Given the description of an element on the screen output the (x, y) to click on. 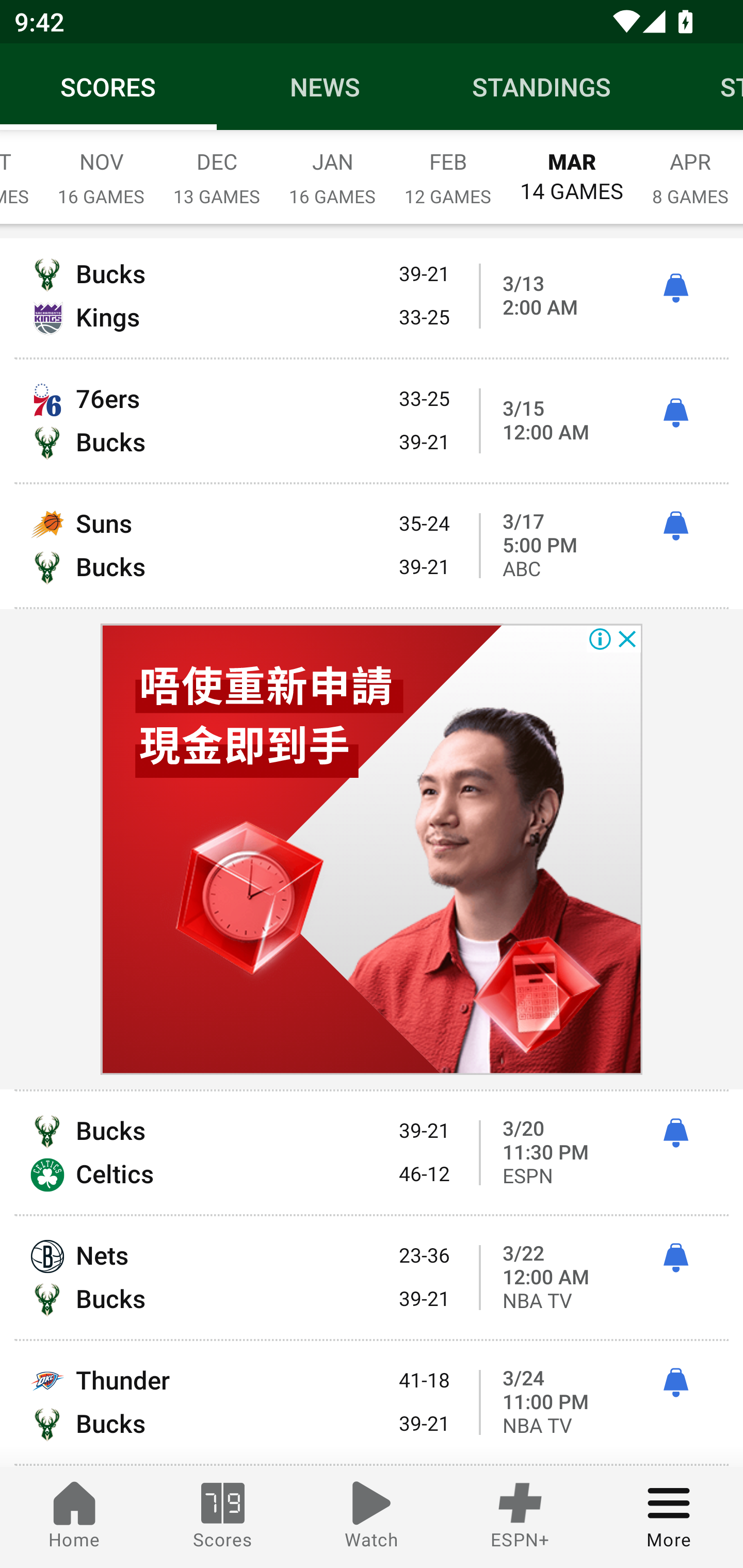
News NEWS (324, 86)
Standings STANDINGS (541, 86)
NOV 16 GAMES (101, 167)
DEC 13 GAMES (216, 167)
JAN 16 GAMES (332, 167)
FEB 12 GAMES (447, 167)
MAR 14 GAMES (571, 167)
APR 8 GAMES (690, 167)
Bucks 39-21 Kings 33-25 3/13 2:00 AM ì (371, 297)
ì (675, 288)
76ers 33-25 Bucks 39-21 3/15 12:00 AM ì (371, 420)
ì (675, 412)
Suns 35-24 Bucks 39-21 3/17 5:00 PM ì ABC (371, 545)
ì (675, 525)
300x250 (371, 849)
Bucks 39-21 Celtics 46-12 3/20 11:30 PM ì ESPN (371, 1152)
ì (675, 1132)
Nets 23-36 Bucks 39-21 3/22 12:00 AM ì NBA TV (371, 1277)
ì (675, 1257)
Thunder 41-18 Bucks 39-21 3/24 11:00 PM ì NBA TV (371, 1402)
ì (675, 1382)
Home (74, 1517)
Scores (222, 1517)
Watch (371, 1517)
ESPN+ (519, 1517)
